Given the description of an element on the screen output the (x, y) to click on. 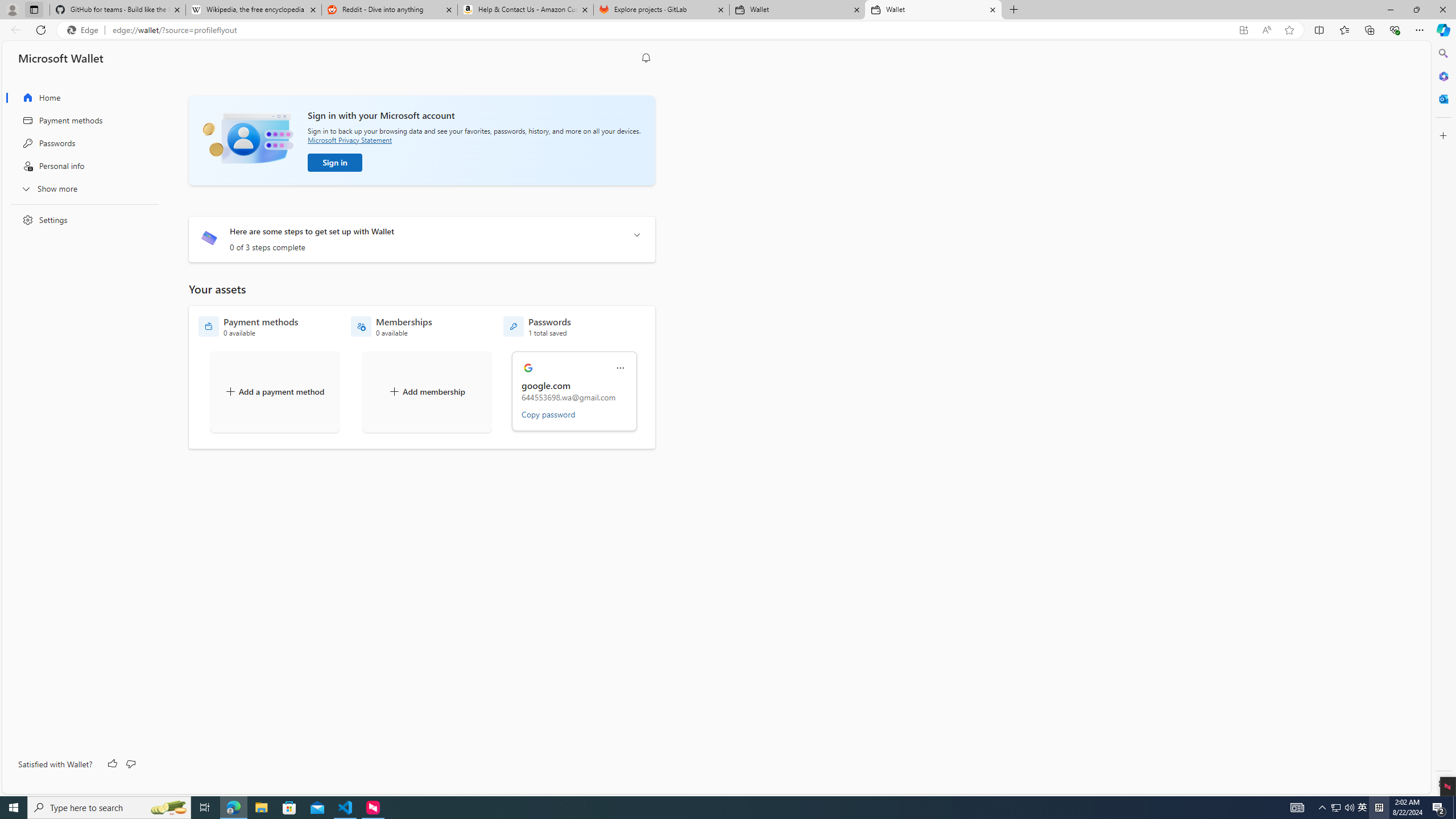
App available. Install Microsoft Wallet (1243, 29)
Add a payment method (274, 391)
Edge (84, 29)
Memberships - 0 available (391, 326)
Wallet (933, 9)
Copy password (548, 414)
Wikipedia, the free encyclopedia (253, 9)
Passwords (81, 142)
